Given the description of an element on the screen output the (x, y) to click on. 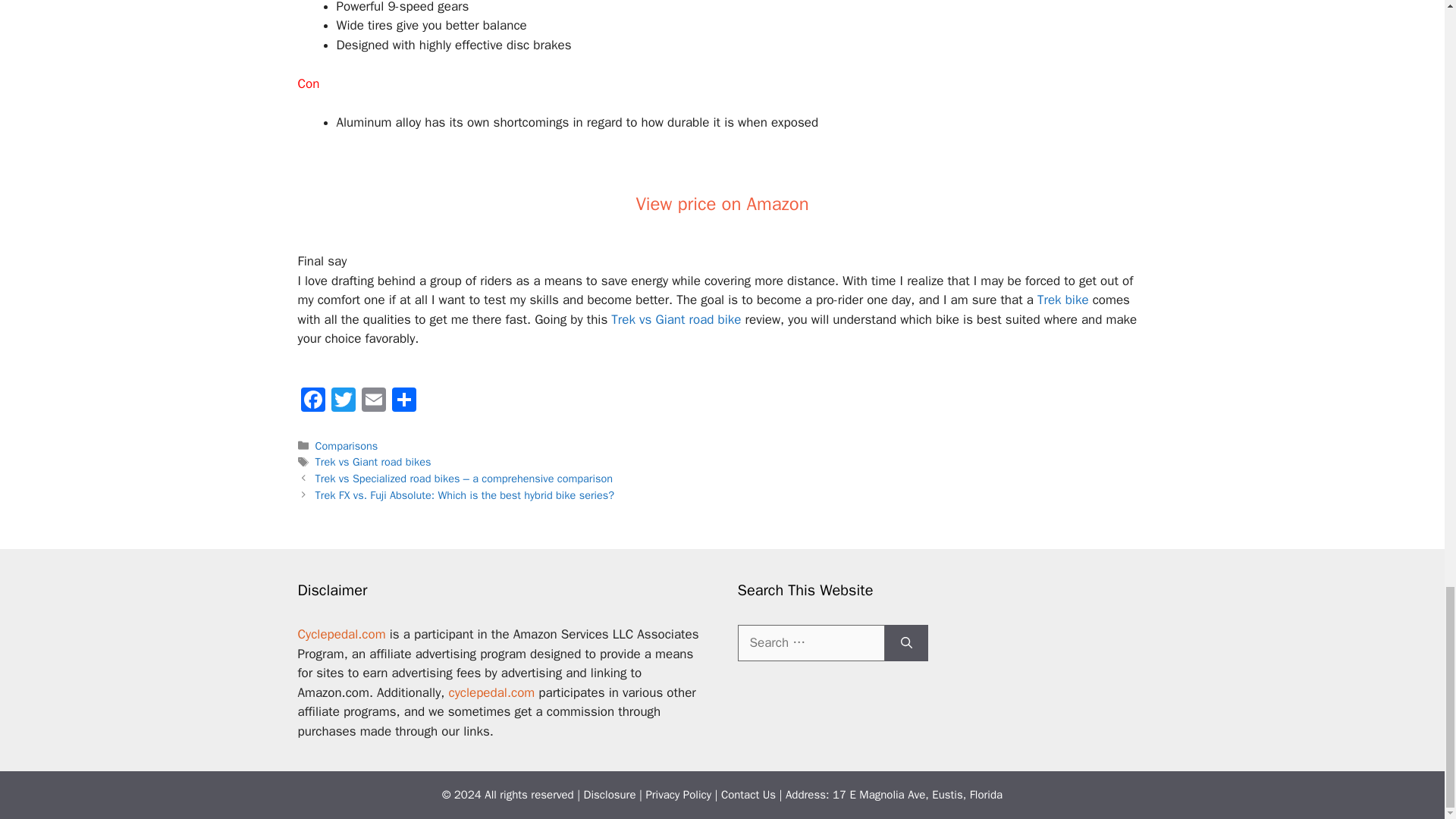
Search for: (809, 642)
Trek vs Giant road bike (676, 319)
Trek bike (1062, 299)
Twitter (342, 401)
Comparisons (346, 445)
Facebook (312, 401)
Twitter (342, 401)
Facebook (312, 401)
View price on Amazon (721, 203)
Email (373, 401)
